Given the description of an element on the screen output the (x, y) to click on. 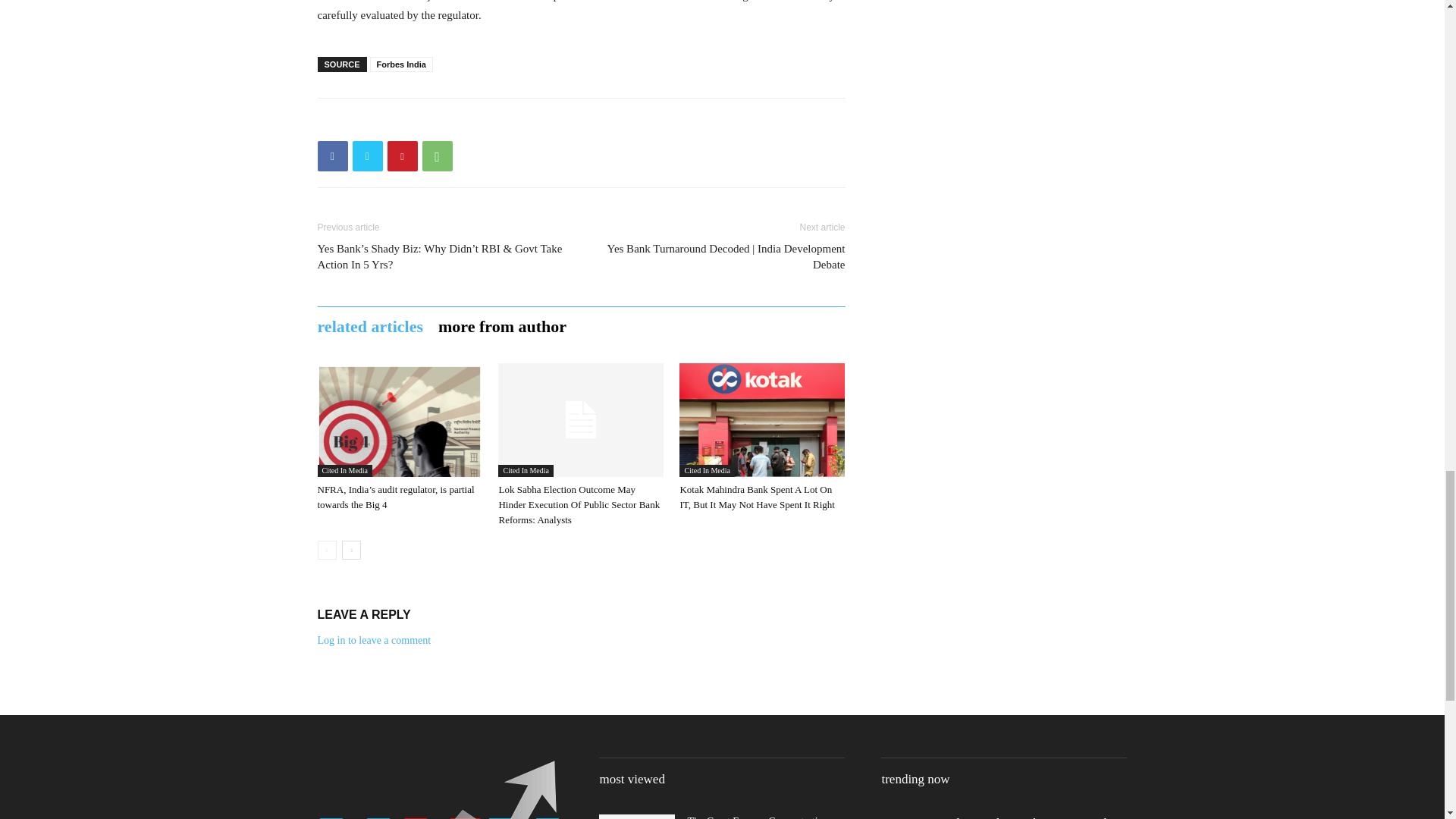
WhatsApp (436, 155)
Facebook (332, 155)
Twitter (366, 155)
Pinterest (401, 155)
bottomFacebookLike (430, 122)
